Given the description of an element on the screen output the (x, y) to click on. 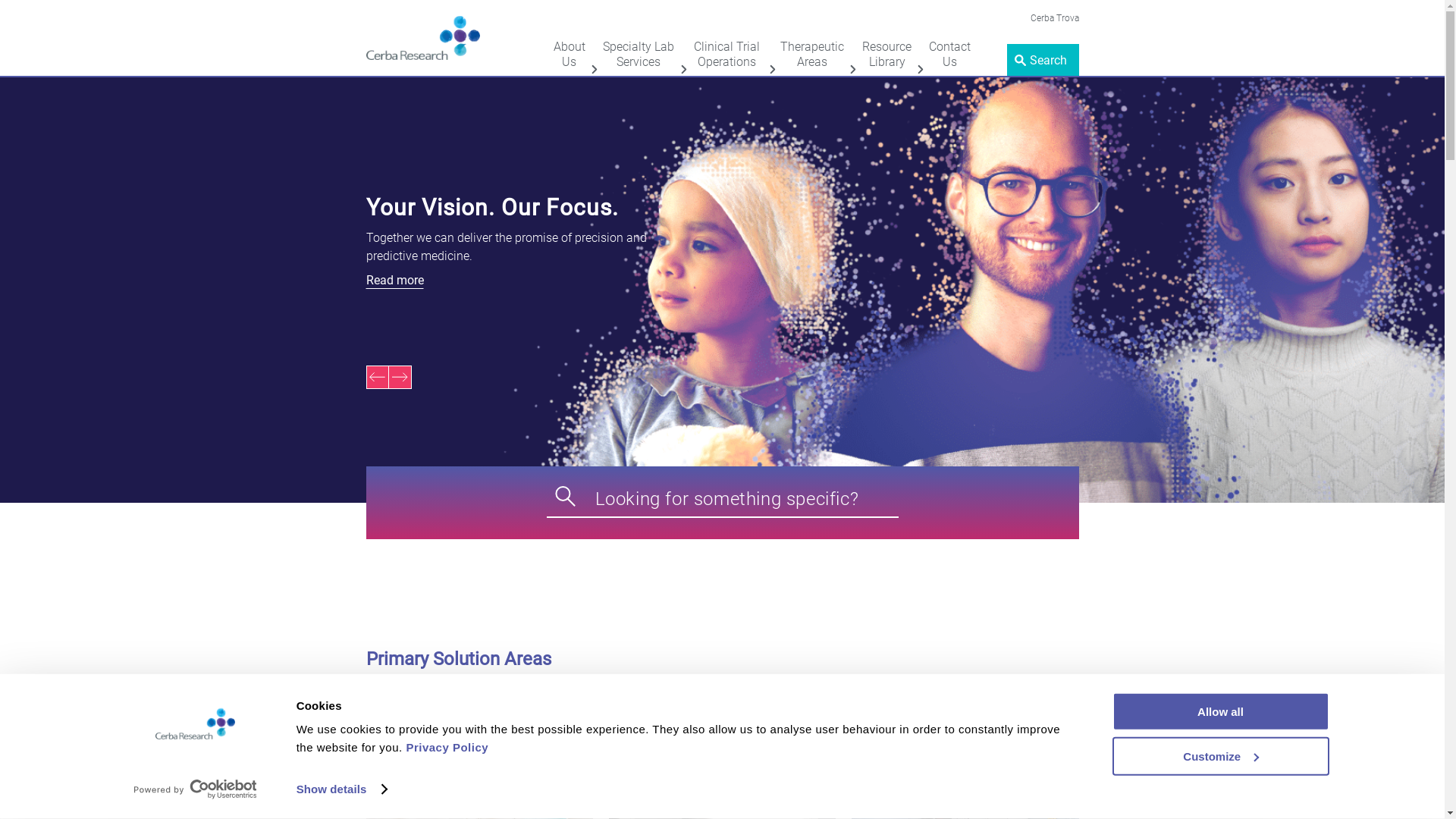
Privacy Policy Element type: text (446, 746)
Toggle menu for Clinical Trial Operations Element type: text (772, 69)
Search Element type: text (1042, 59)
About
Us Element type: text (569, 54)
Toggle menu for Specialty Lab Services Element type: text (683, 69)
Navigate to homepage - Cerba Research Element type: text (422, 37)
Toggle menu for About Us Element type: text (593, 69)
Toggle menu for Therapeutic Areas Element type: text (852, 69)
Read more Element type: text (592, 280)
Contact
Us Element type: text (949, 54)
Customize Element type: text (1219, 755)
Search Element type: text (30, 13)
Therapeutic
Areas Element type: text (812, 54)
Specialty Lab Services Element type: text (638, 54)
Resource
Library Element type: text (886, 54)
Show details Element type: text (340, 789)
Allow all Element type: text (1219, 711)
Toggle menu for Resource Library Element type: text (920, 69)
Your Vision. Our Focus. Element type: text (592, 210)
Cerba Trova Element type: text (1053, 18)
Clinical Trial Operations Element type: text (726, 54)
